Given the description of an element on the screen output the (x, y) to click on. 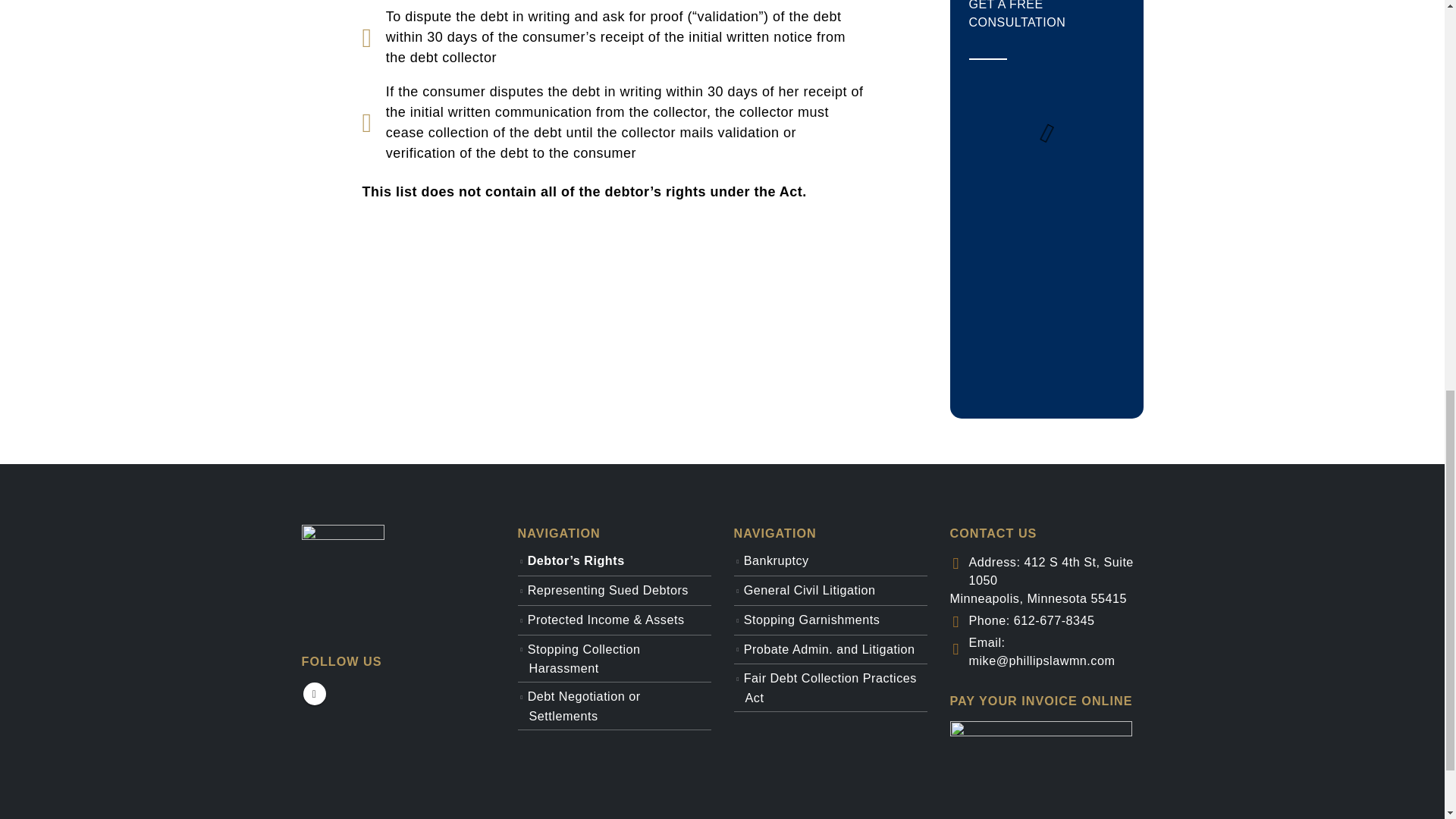
Facebook (314, 693)
